Given the description of an element on the screen output the (x, y) to click on. 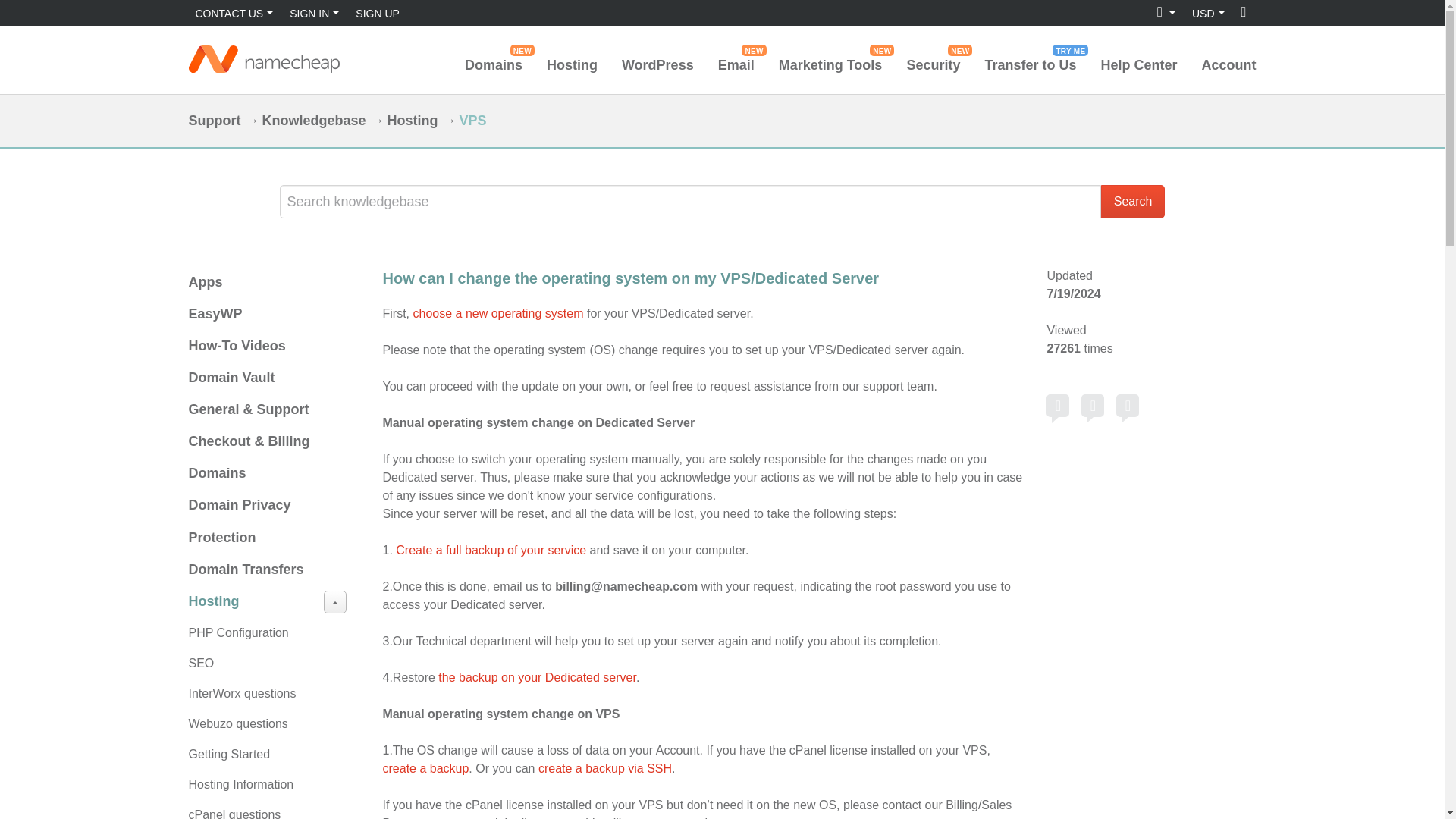
SIGN IN (314, 12)
SIGN UP (377, 12)
CONTACT US (233, 12)
Tweet This (1092, 404)
Pin on Pinterest (1127, 404)
Share on Facebook (493, 65)
WordPress (1057, 404)
Hosting (657, 65)
